Given the description of an element on the screen output the (x, y) to click on. 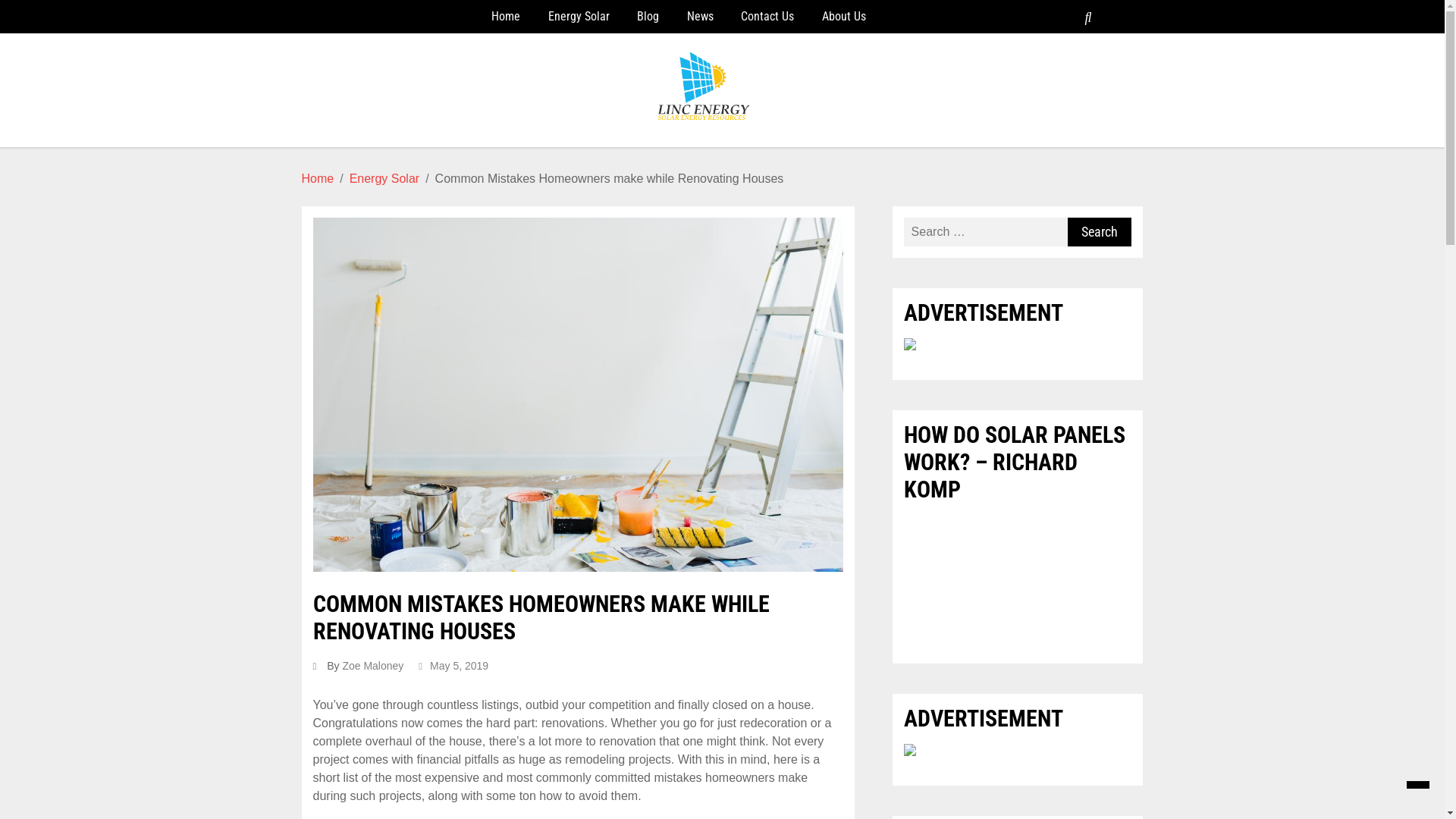
Home Element type: text (317, 178)
Home Element type: text (505, 16)
News Element type: text (699, 16)
Contact Us Element type: text (767, 16)
Blog Element type: text (647, 16)
About Us Element type: text (843, 16)
Zoe Maloney Element type: text (372, 665)
Energy Solar Element type: text (578, 16)
May 5, 2019 Element type: text (453, 665)
Search Element type: text (1099, 231)
Linc Energy Element type: text (393, 156)
Energy Solar Element type: text (384, 178)
